Given the description of an element on the screen output the (x, y) to click on. 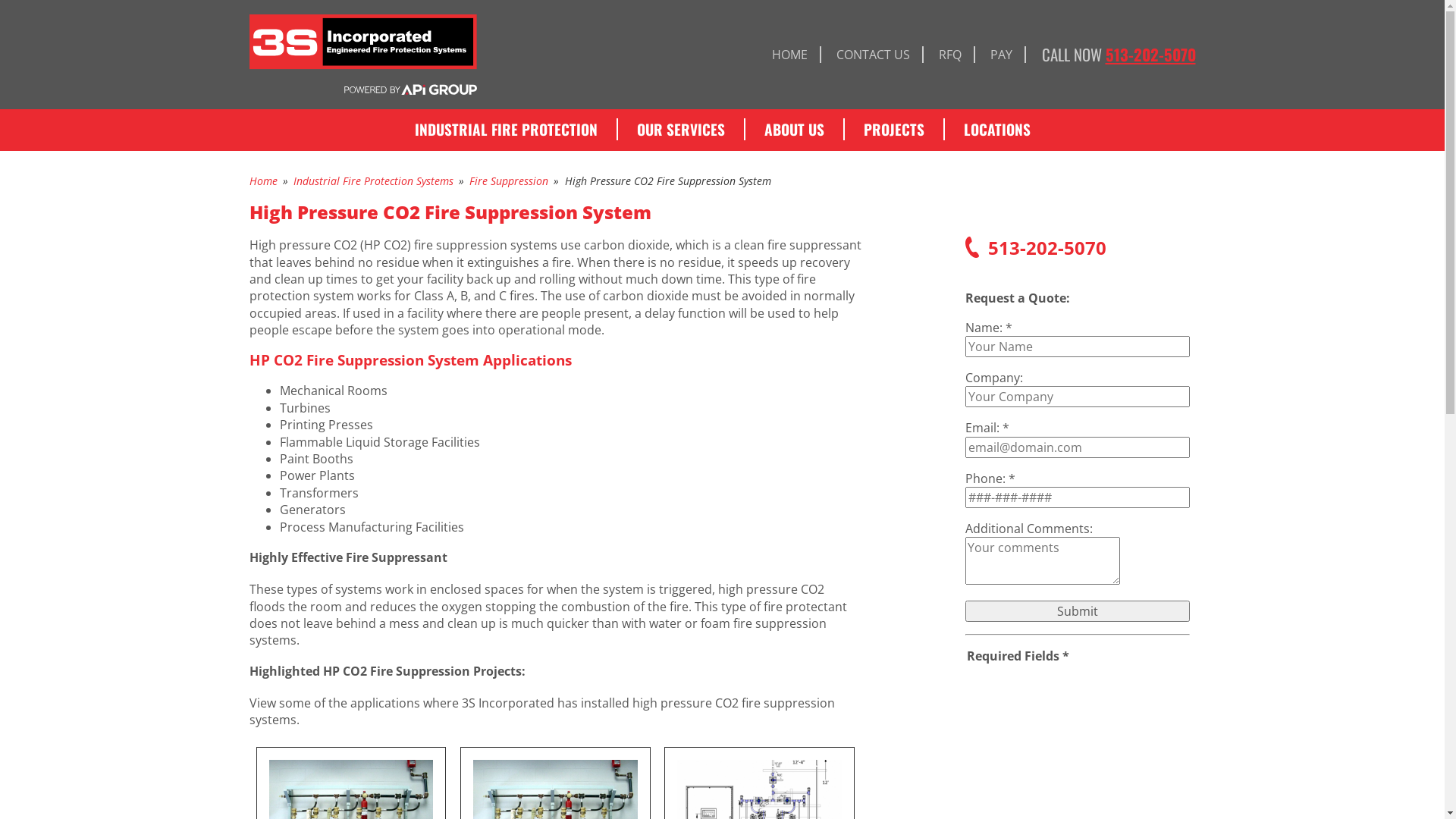
Home Element type: text (262, 180)
Back to Home Element type: hover (404, 54)
OUR SERVICES Element type: text (679, 133)
INDUSTRIAL FIRE PROTECTION Element type: text (506, 133)
RFQ Element type: text (949, 54)
Submit Element type: text (1076, 610)
HOME Element type: text (789, 54)
CONTACT US Element type: text (873, 54)
PAY Element type: text (1001, 54)
Industrial Fire Protection Systems Element type: text (373, 180)
LOCATIONS Element type: text (997, 133)
ABOUT US Element type: text (793, 133)
513-202-5070 Element type: text (1076, 256)
513-202-5070 Element type: text (1150, 53)
PROJECTS Element type: text (893, 133)
Fire Suppression Element type: text (508, 180)
